Given the description of an element on the screen output the (x, y) to click on. 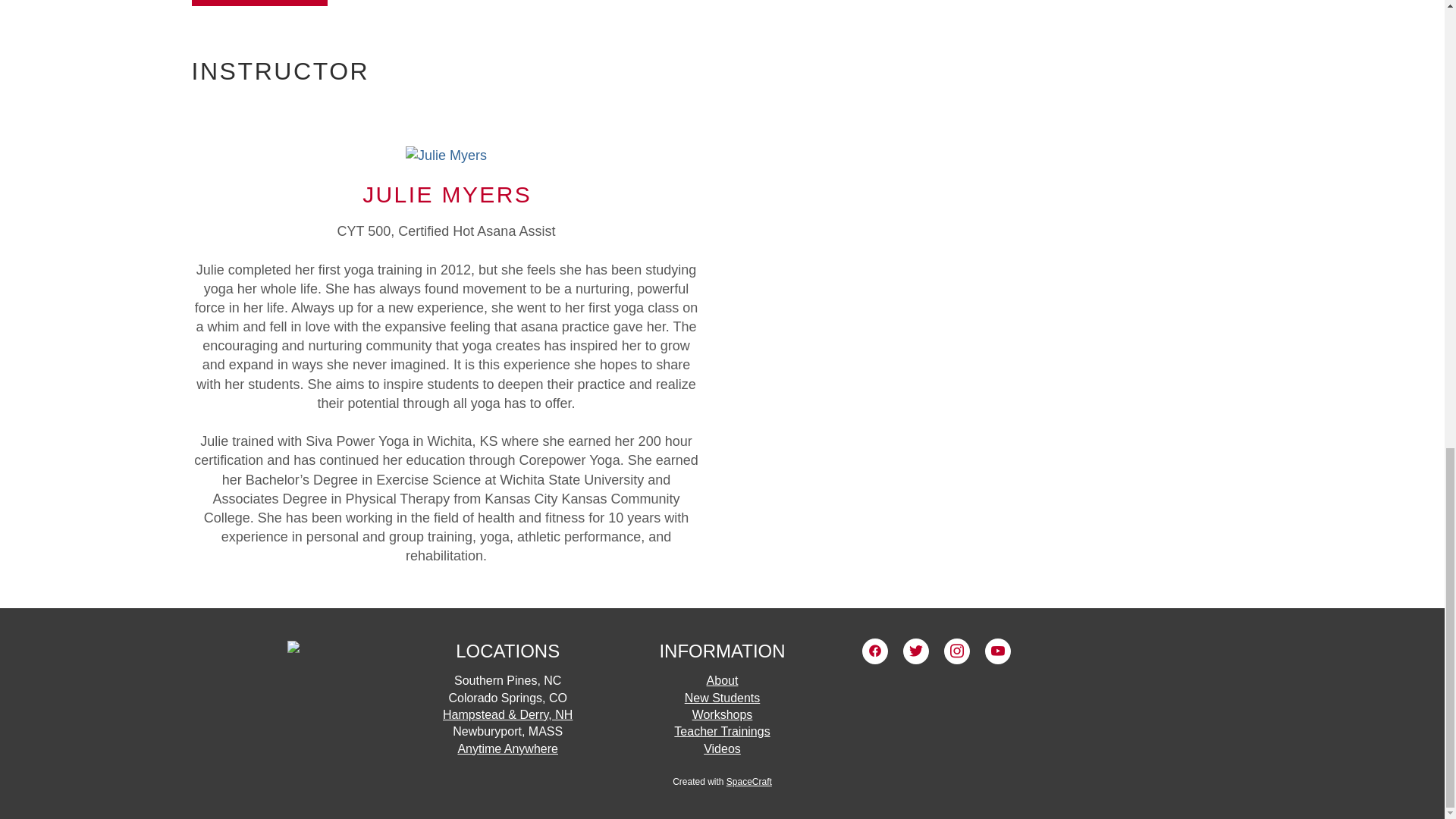
New Students (722, 697)
JULIE MYERS (446, 194)
REGISTER HERE (258, 2)
About (722, 680)
Workshops (722, 714)
Created with SpaceCraft (721, 781)
CYT 500, Certified Hot Asana Assist (446, 155)
Videos (722, 748)
Teacher Trainings (722, 730)
Anytime Anywhere (507, 748)
